Given the description of an element on the screen output the (x, y) to click on. 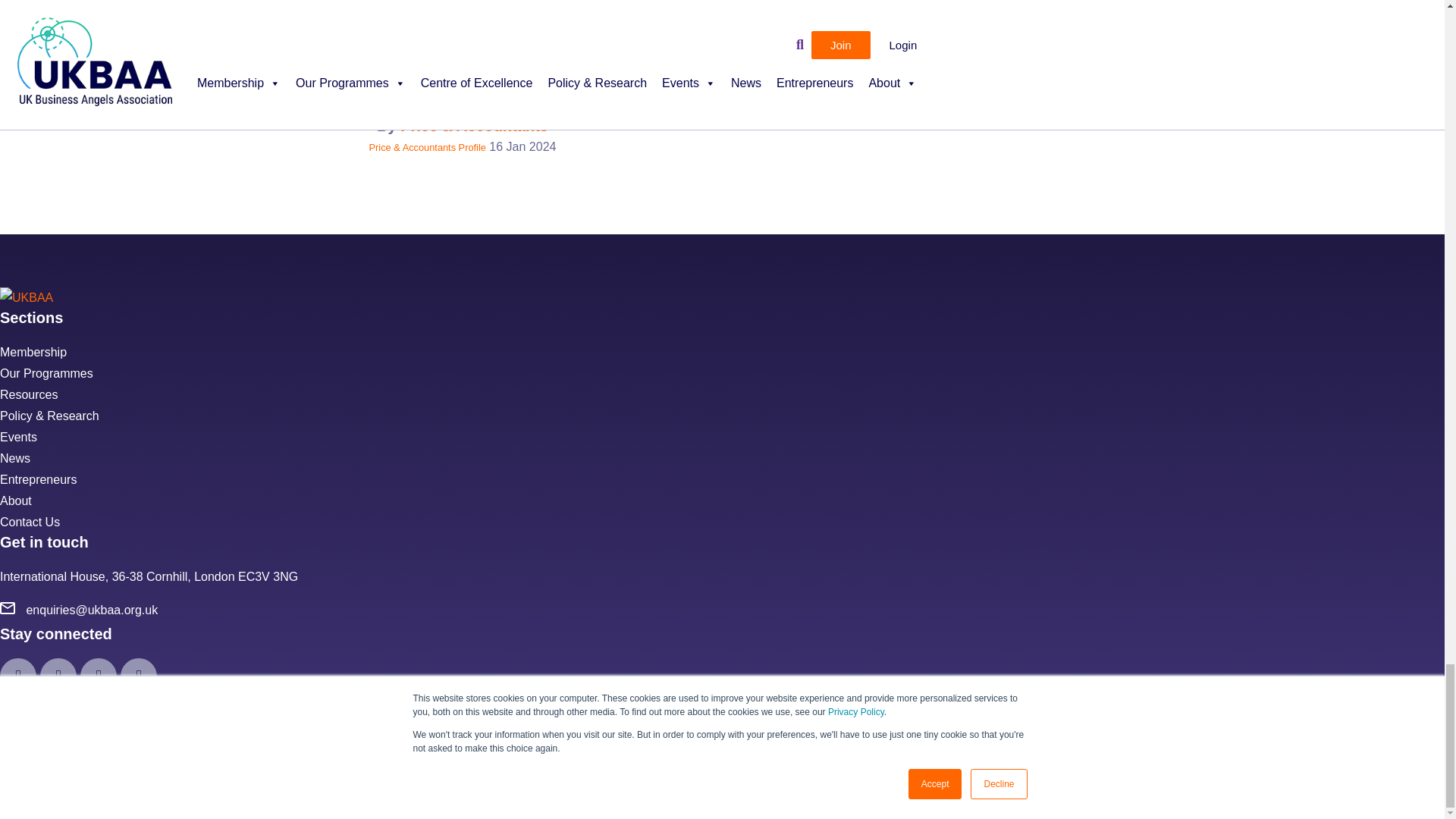
Facebook (18, 676)
LinkedIn (138, 676)
Twitter (98, 676)
Instagram (58, 676)
